Given the description of an element on the screen output the (x, y) to click on. 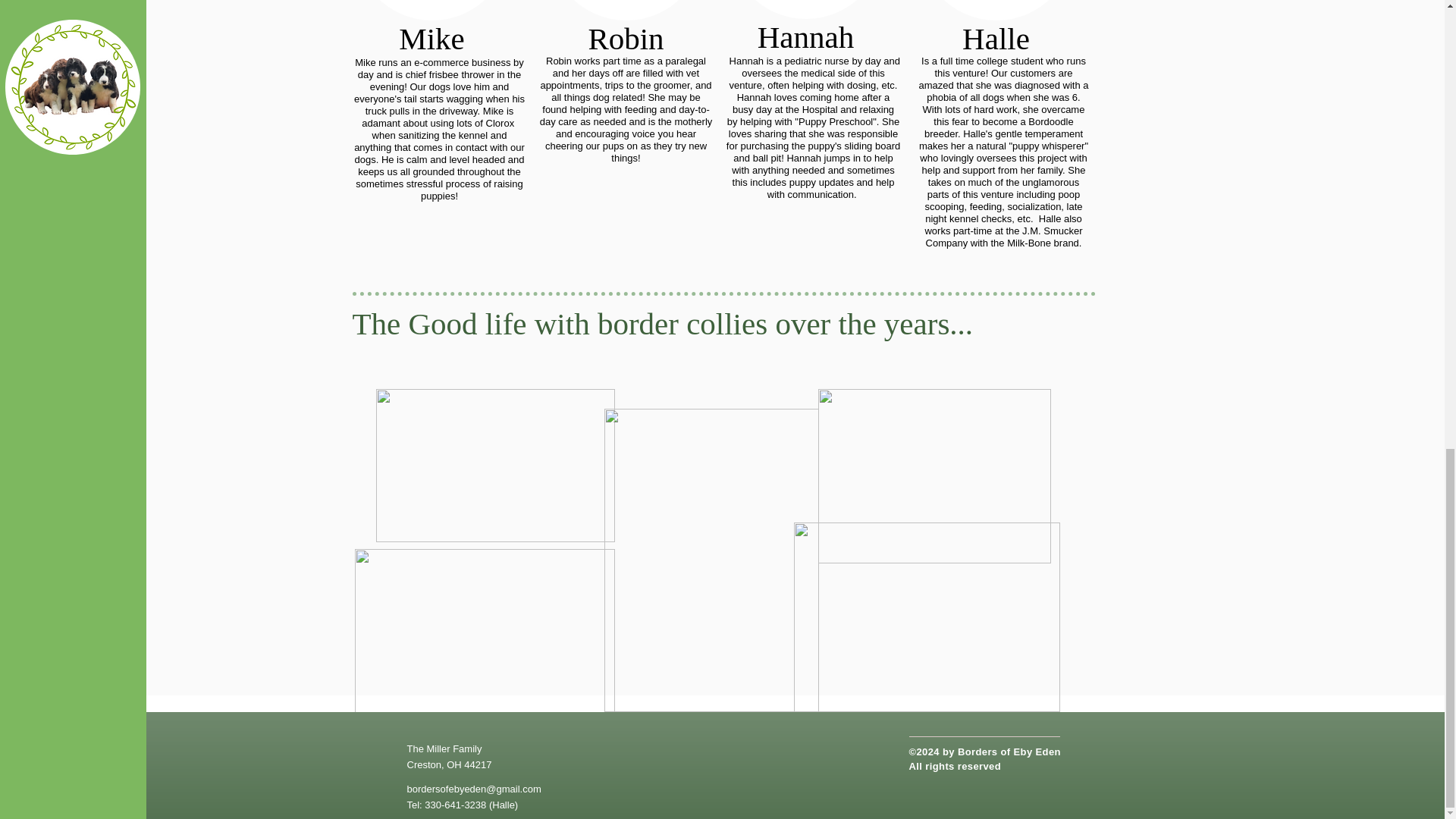
guy3.jpg (995, 10)
archie had.png (932, 476)
guy3.jpg (805, 9)
archie dog house.jpg (926, 616)
guy3.jpg (625, 10)
archie first day of school.jpg (494, 465)
baby hannah with archi.jpg (484, 645)
guy3.jpg (431, 10)
